Given the description of an element on the screen output the (x, y) to click on. 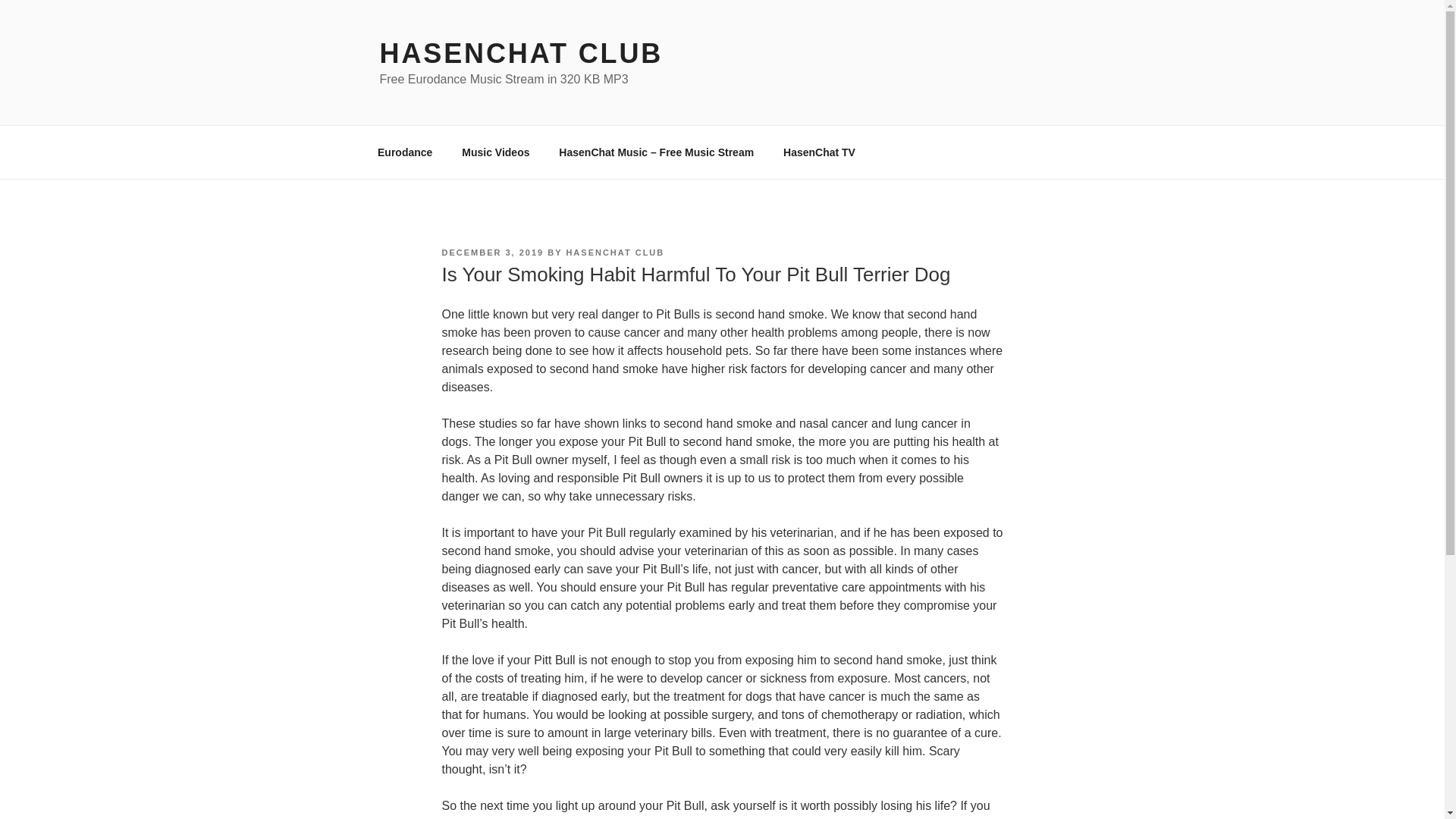
HasenChat TV (819, 151)
Eurodance (404, 151)
HASENCHAT CLUB (614, 252)
DECEMBER 3, 2019 (492, 252)
Music Videos (495, 151)
HASENCHAT CLUB (520, 52)
